Given the description of an element on the screen output the (x, y) to click on. 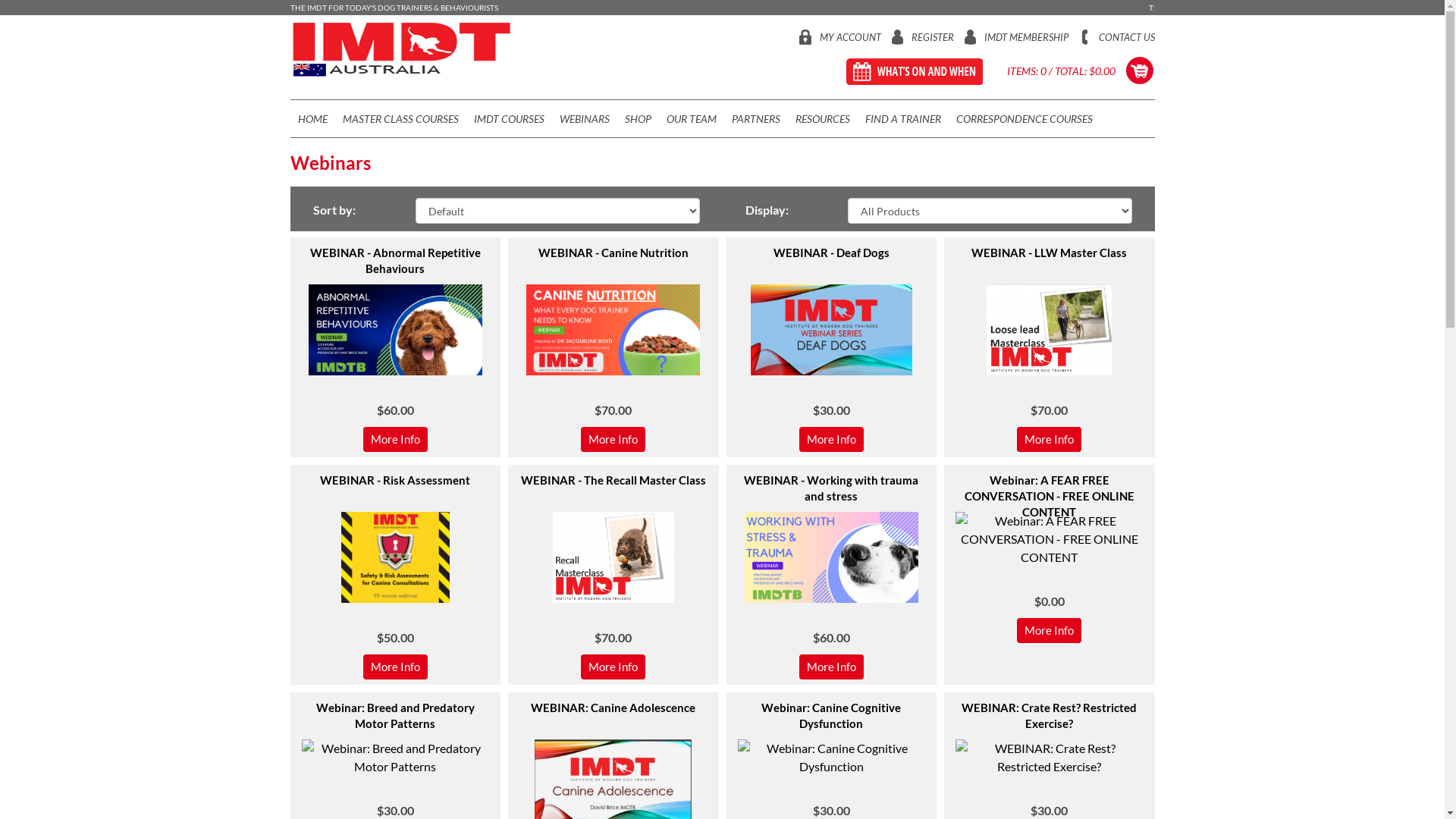
MASTER CLASS COURSES Element type: text (400, 118)
OUR TEAM Element type: text (690, 118)
WEBINAR - Risk Assessment Element type: text (395, 488)
More Info Element type: text (831, 438)
FIND A TRAINER Element type: text (901, 118)
WEBINAR - Abnormal Repetitive Behaviours Element type: hover (395, 329)
More Info Element type: text (831, 666)
WEBINAR - Deaf Dogs Element type: hover (831, 329)
WEBINAR: Canine Adolescence Element type: text (613, 715)
WEBINAR - Deaf Dogs Element type: text (831, 260)
WEBINAR: Crate Rest? Restricted Exercise? Element type: text (1049, 715)
WEBINAR: Crate Rest? Restricted Exercise? Element type: hover (1049, 757)
Webinar: Breed and Predatory Motor Patterns Element type: hover (395, 757)
Webinar: Breed and Predatory Motor Patterns Element type: text (395, 715)
HOME Element type: text (311, 118)
WEBINAR - The Recall Master Class Element type: text (613, 488)
WEBINAR - Working with trauma and stress Element type: hover (831, 556)
More Info Element type: text (612, 666)
WEBINAR - Abnormal Repetitive Behaviours Element type: text (395, 260)
WEBINAR - Working with trauma and stress Element type: text (831, 488)
WEBINAR - The Recall Master Class Element type: hover (613, 556)
CORRESPONDENCE COURSES Element type: text (1023, 118)
SHOP Element type: text (637, 118)
WEBINAR - LLW Master Class Element type: hover (1048, 329)
Webinar: A FEAR FREE CONVERSATION - FREE ONLINE CONTENT Element type: hover (1049, 538)
WEBINAR - Canine Nutrition Element type: text (613, 260)
Webinar: Canine Cognitive Dysfunction Element type: text (831, 715)
WEBINAR - Canine Nutrition Element type: hover (612, 329)
WEBINARS Element type: text (584, 118)
More Info Element type: text (395, 666)
WEBINAR - Risk Assessment Element type: hover (395, 556)
More Info Element type: text (1048, 630)
More Info Element type: text (1048, 438)
IMDT COURSES Element type: text (508, 118)
Webinar: Canine Cognitive Dysfunction Element type: hover (831, 757)
Webinar: A FEAR FREE CONVERSATION - FREE ONLINE CONTENT Element type: text (1049, 488)
More Info Element type: text (612, 438)
IMDT MEMBERSHIP Element type: text (1014, 37)
CONTACT US Element type: text (1115, 37)
PARTNERS Element type: text (755, 118)
MY ACCOUNT Element type: text (839, 37)
RESOURCES Element type: text (821, 118)
More Info Element type: text (395, 438)
REGISTER Element type: text (920, 37)
WEBINAR - LLW Master Class Element type: text (1049, 260)
